Given the description of an element on the screen output the (x, y) to click on. 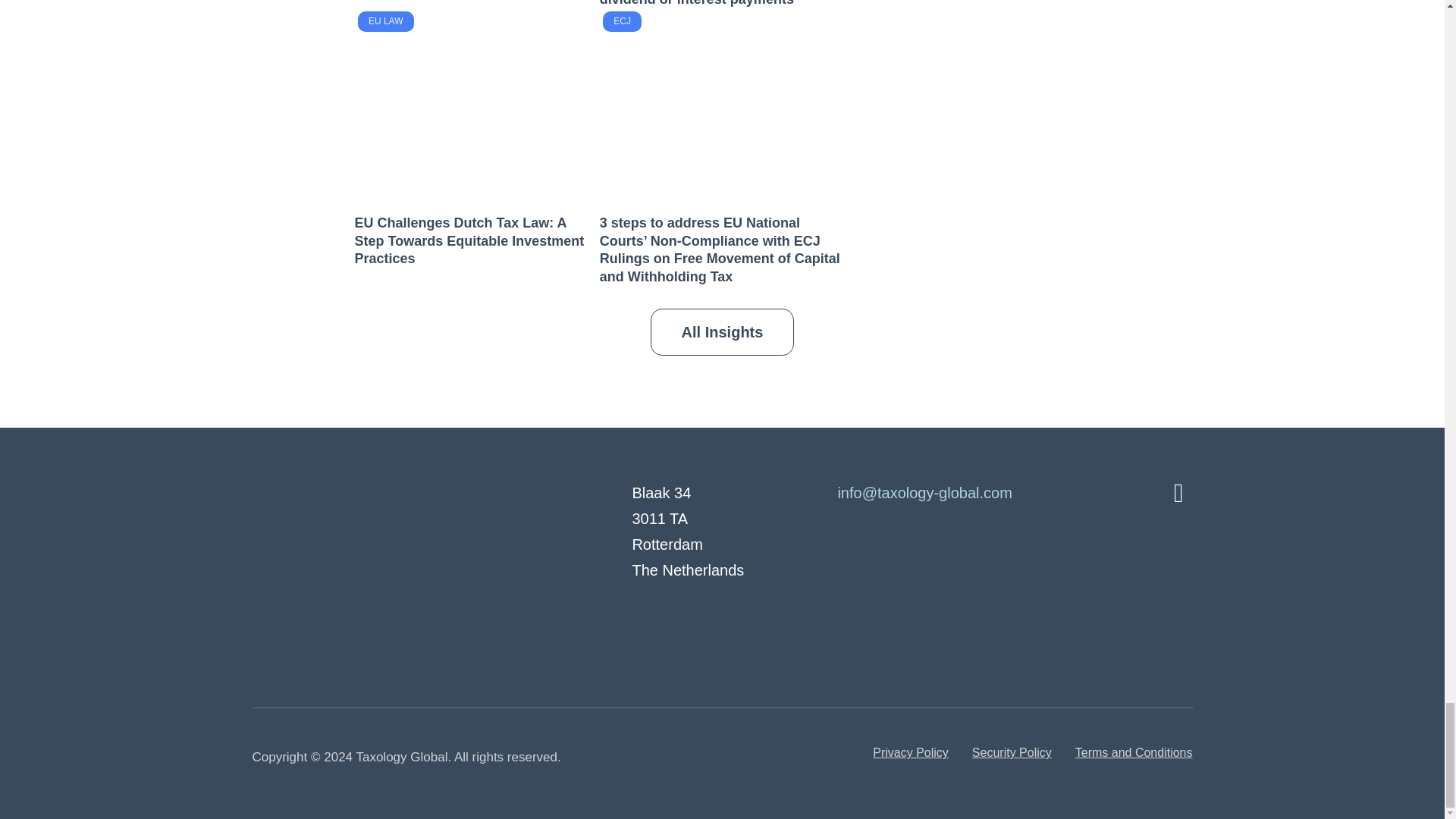
All Insights (722, 331)
